Given the description of an element on the screen output the (x, y) to click on. 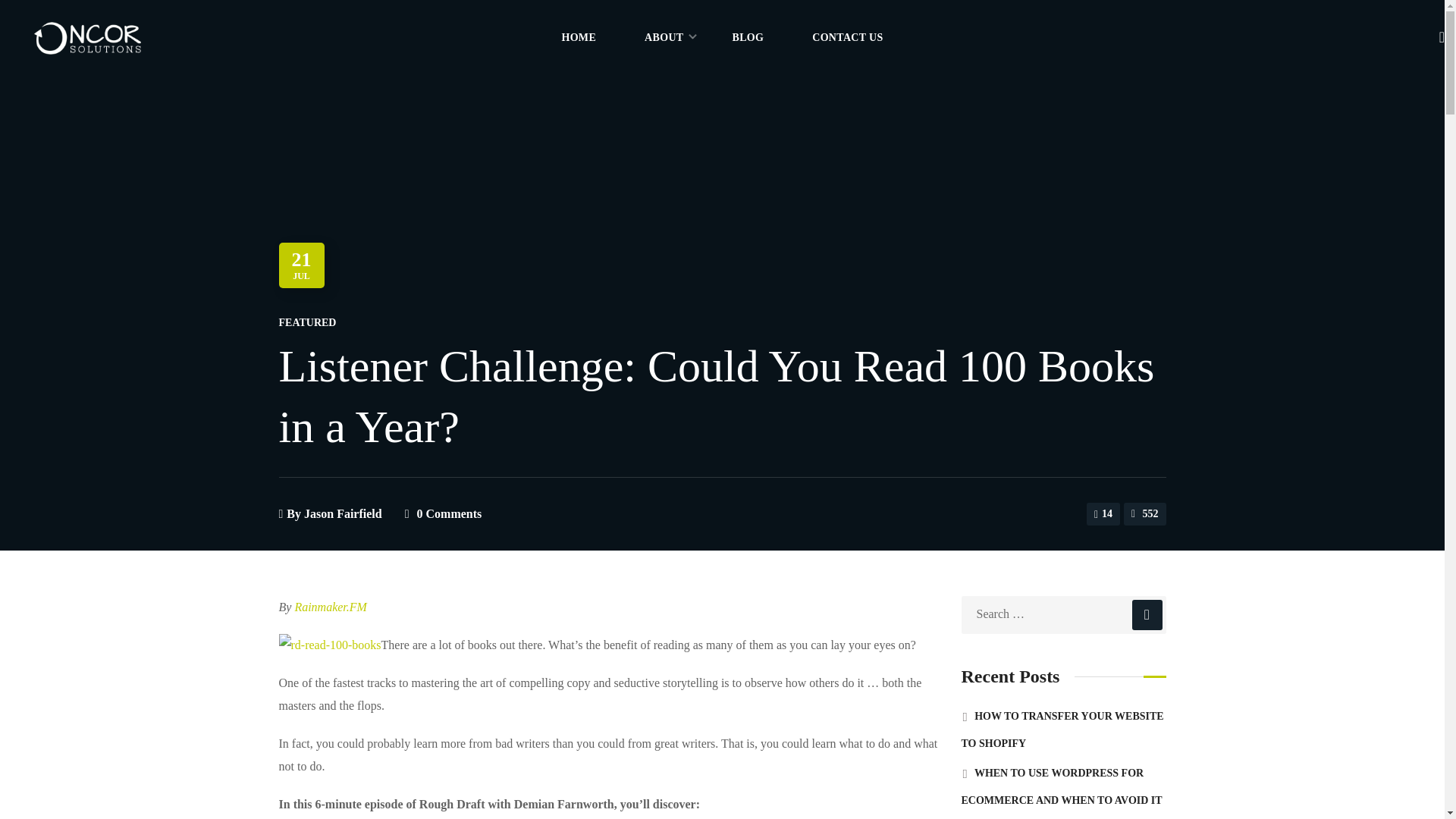
Total Views (1144, 513)
0 Comments (448, 513)
CONTACT US (847, 38)
HOME (578, 38)
ABOUT (663, 38)
14 (1102, 513)
FEATURED (307, 322)
Rainmaker.FM (330, 606)
Leave a reply (448, 513)
Like (1102, 513)
